Given the description of an element on the screen output the (x, y) to click on. 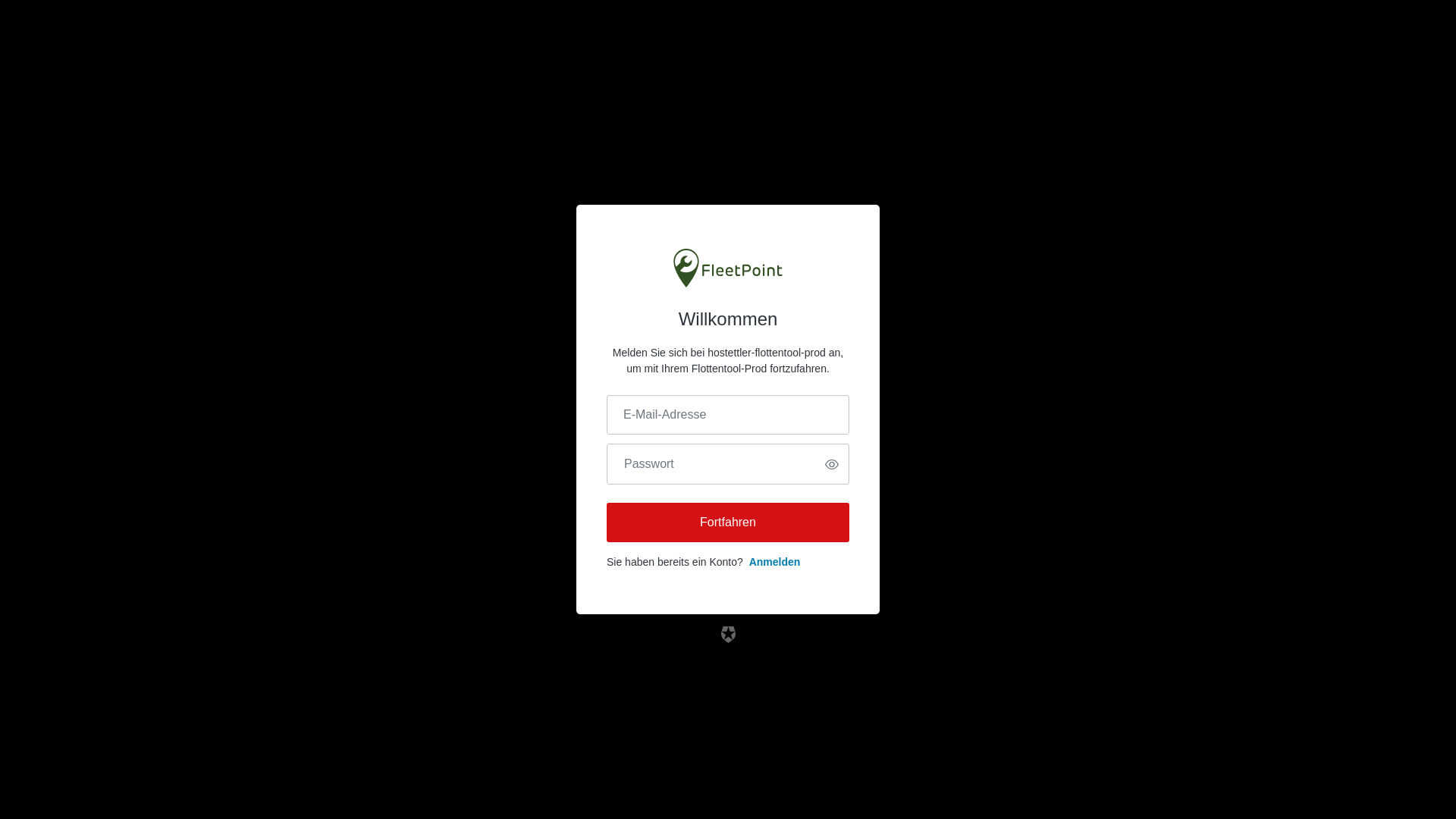
Fortfahren Element type: text (727, 522)
Passwort anzeigen Element type: text (831, 463)
Anmelden Element type: text (774, 561)
